Given the description of an element on the screen output the (x, y) to click on. 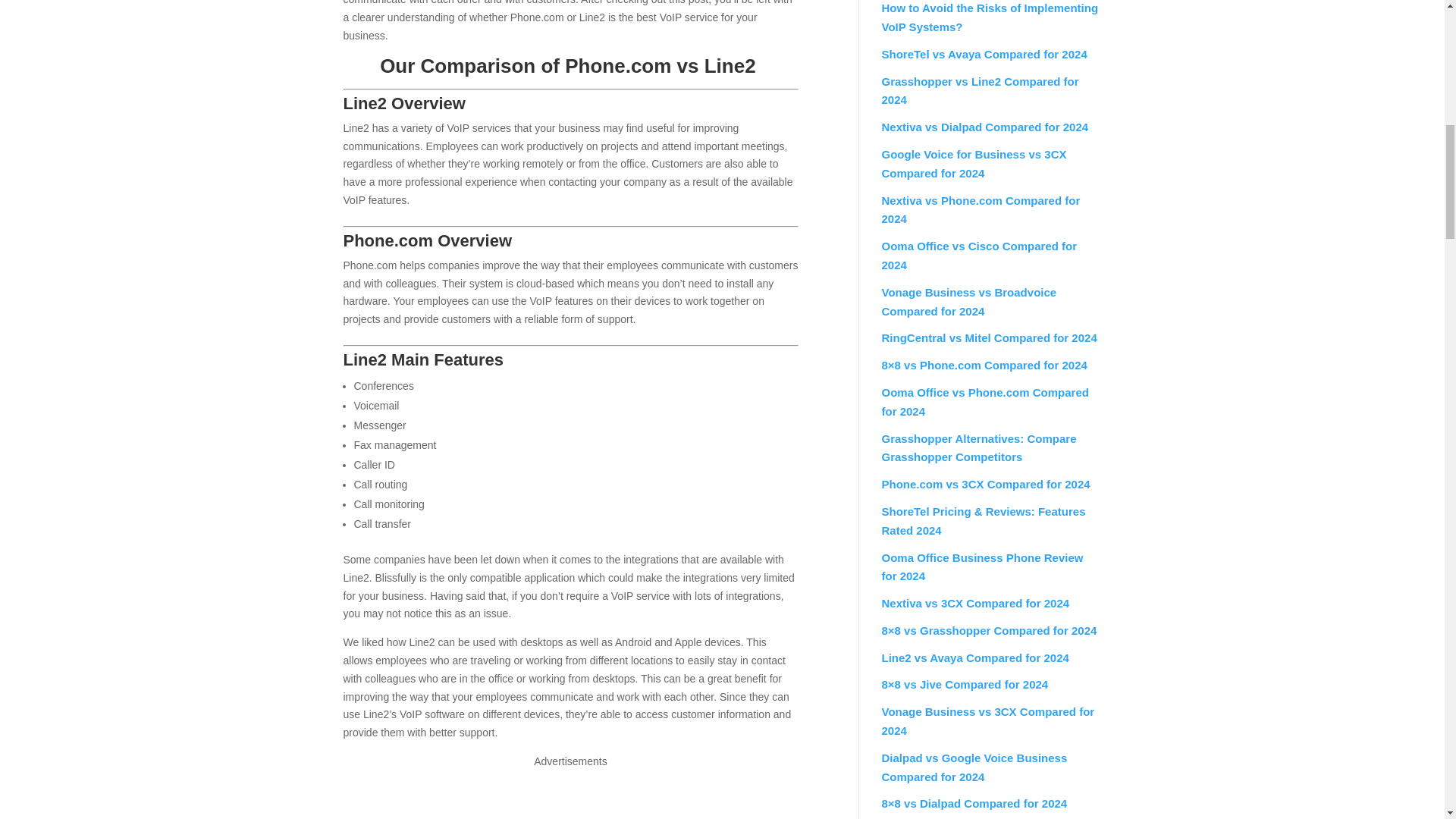
ShoreTel vs Avaya Compared for 2024 (983, 53)
Google Voice for Business vs 3CX Compared for 2024 (972, 163)
Grasshopper vs Line2 Compared for 2024 (979, 91)
How to Avoid the Risks of Implementing VoIP Systems? (988, 17)
Nextiva vs Dialpad Compared for 2024 (983, 126)
Nextiva vs Phone.com Compared for 2024 (980, 210)
